Given the description of an element on the screen output the (x, y) to click on. 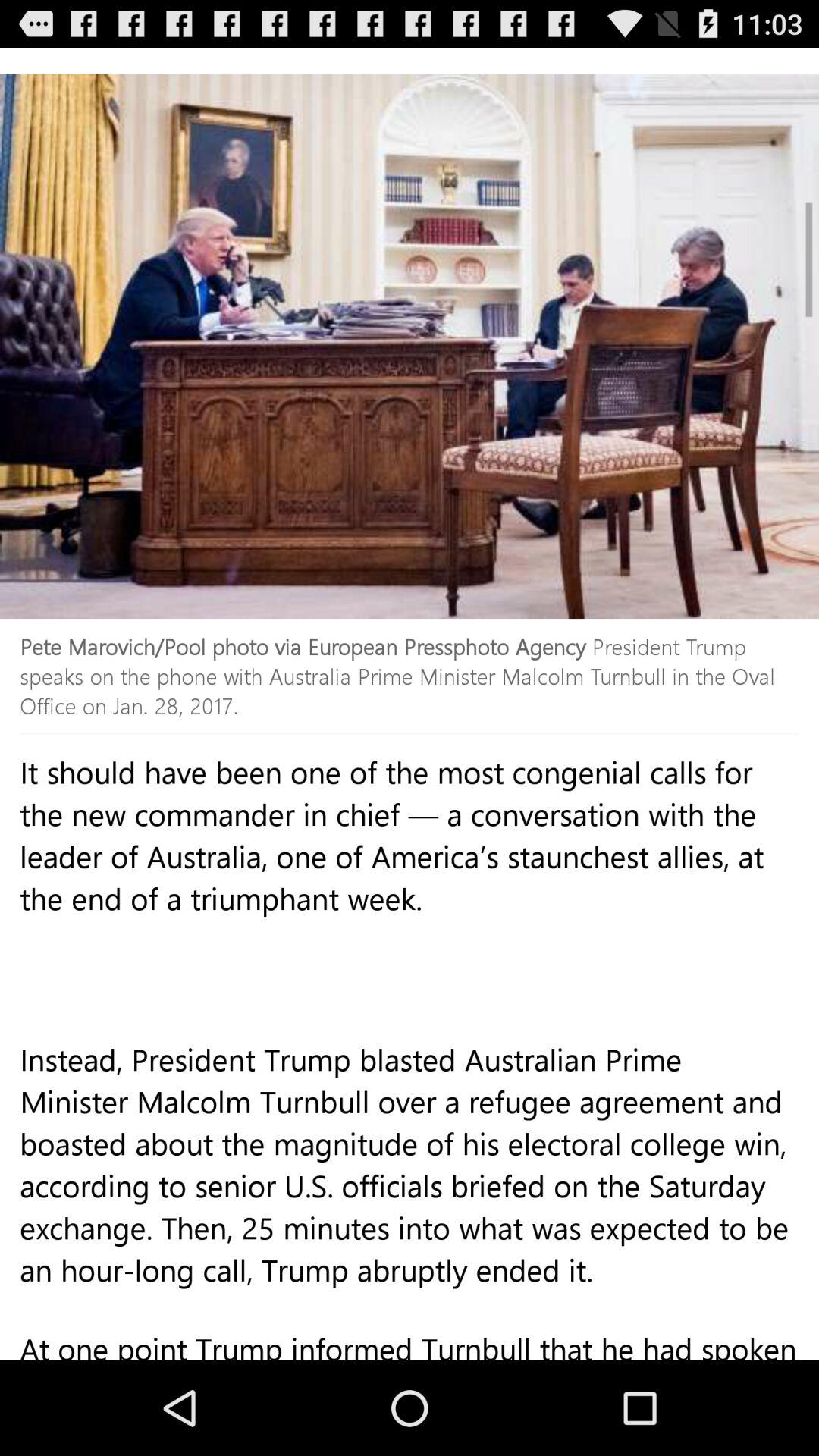
launch the at one point (409, 1351)
